Given the description of an element on the screen output the (x, y) to click on. 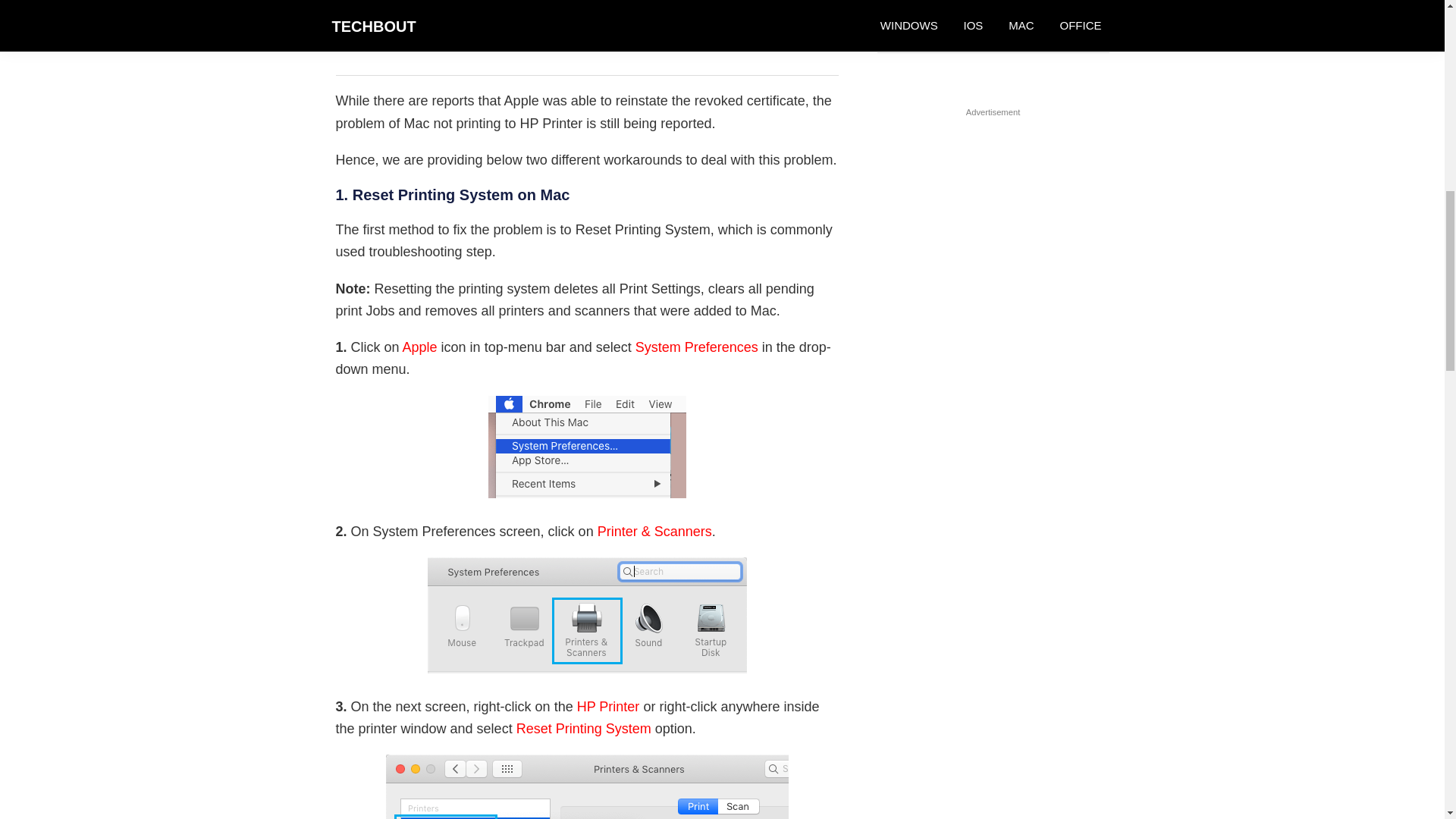
Open System Preferences on Mac (586, 446)
Reset Printing System on Mac (586, 786)
Advertisement (586, 37)
